Given the description of an element on the screen output the (x, y) to click on. 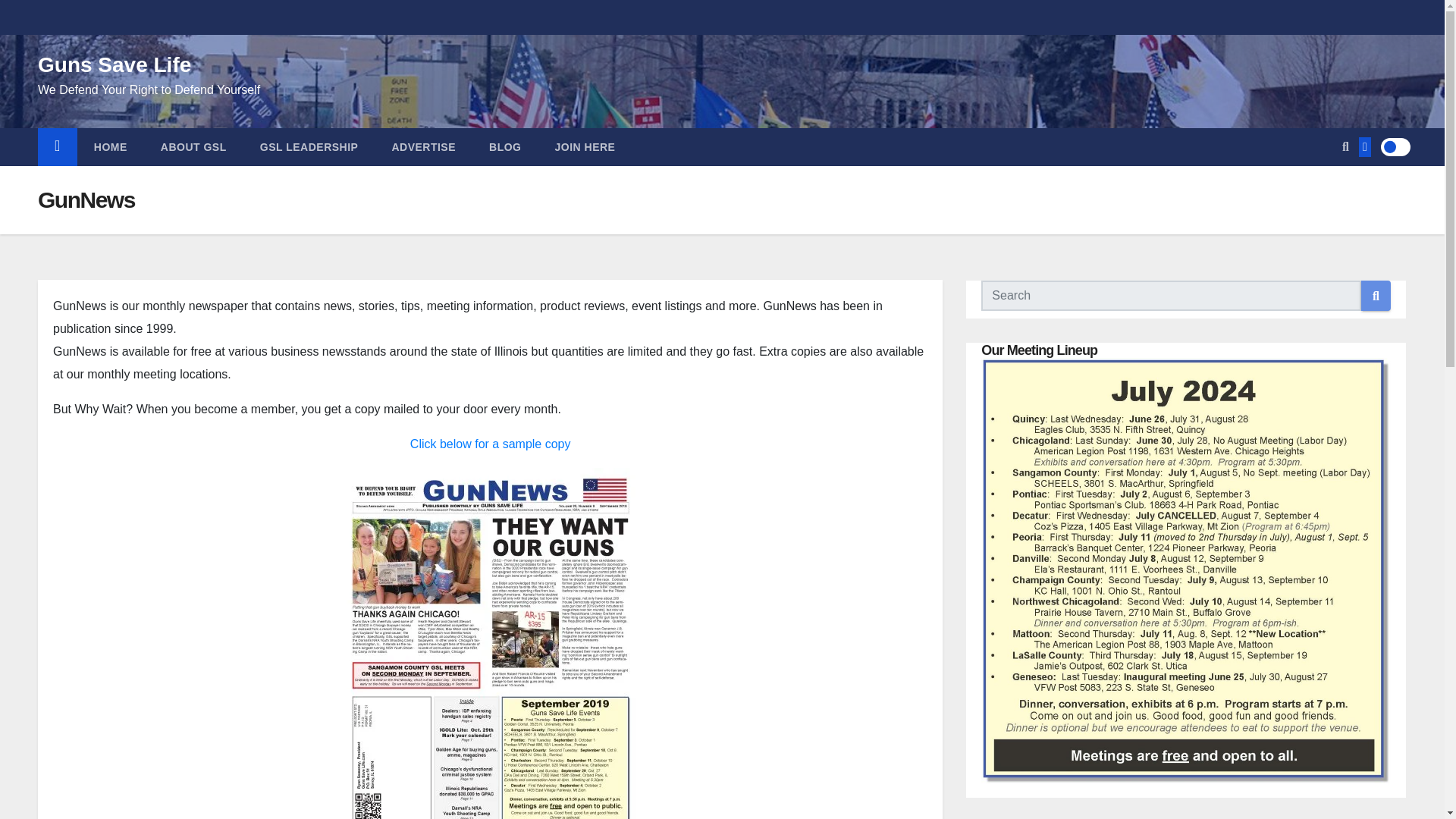
BLOG (504, 146)
GSL LEADERSHIP (309, 146)
Guns Save Life (113, 64)
Home (57, 146)
HOME (110, 146)
Advertise (422, 146)
GSL Leadership (309, 146)
ADVERTISE (422, 146)
JOIN HERE (584, 146)
Home (110, 146)
About GSL (193, 146)
Blog (504, 146)
Join here (584, 146)
Click below for a sample copy (490, 443)
ABOUT GSL (193, 146)
